Given the description of an element on the screen output the (x, y) to click on. 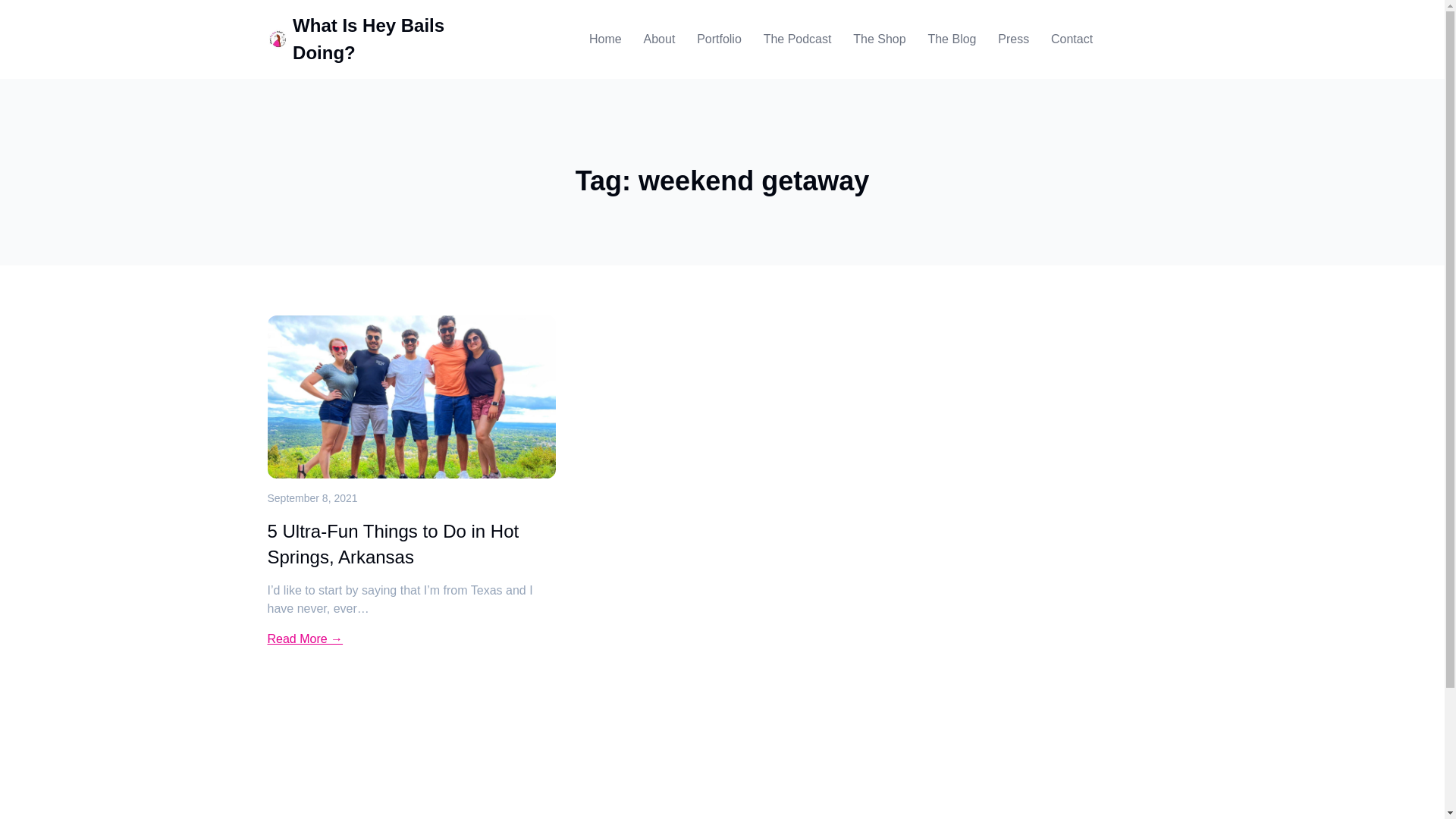
Contact (1072, 39)
Portfolio (719, 39)
The Blog (951, 39)
Press (1013, 39)
5 Ultra-Fun Things to Do in Hot Springs, Arkansas (411, 543)
What Is Hey Bails Doing? (368, 39)
Home (605, 39)
The Shop (879, 39)
The Podcast (796, 39)
About (659, 39)
